Given the description of an element on the screen output the (x, y) to click on. 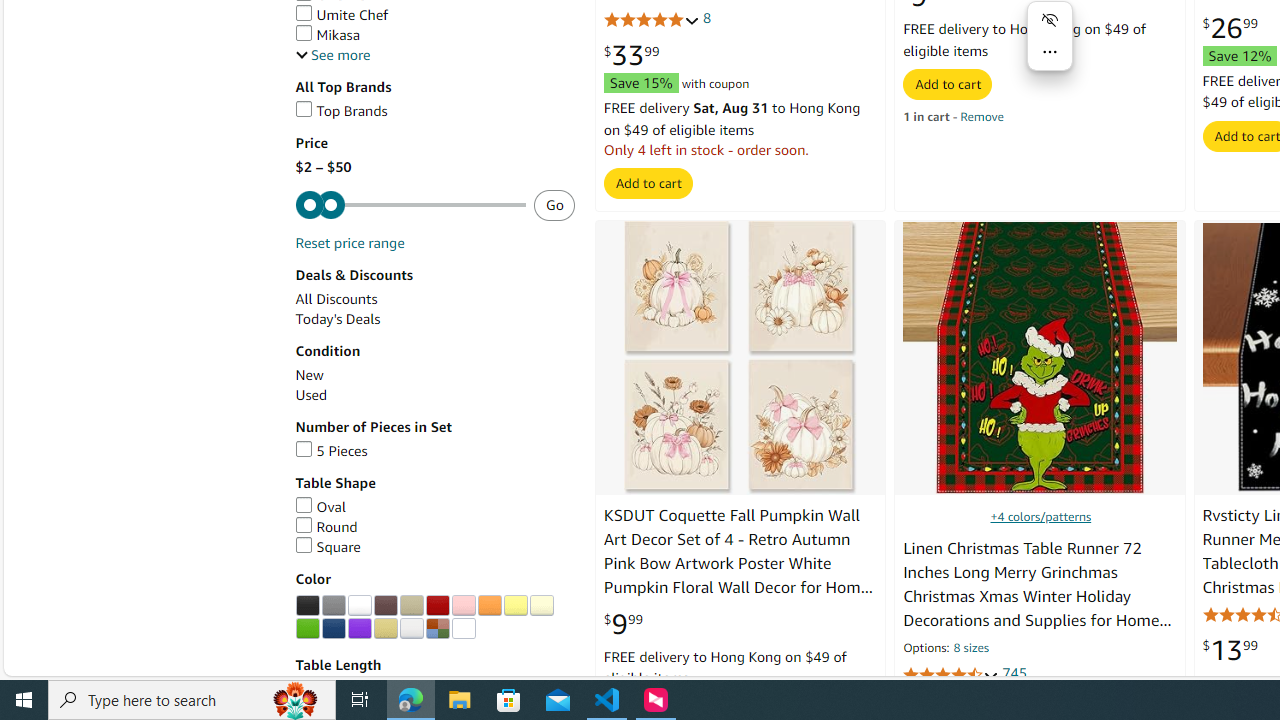
Add to cart (947, 84)
AutomationID: p_n_feature_twenty_browse-bin/3254114011 (463, 628)
Clear (463, 628)
5 Pieces (434, 451)
AutomationID: p_n_feature_twenty_browse-bin/3254106011 (515, 605)
See more, Brands (332, 55)
Top Brands (434, 111)
$13.99 (1230, 650)
Hide menu (1049, 20)
AutomationID: p_n_feature_twenty_browse-bin/3254098011 (307, 605)
Silver (411, 628)
Grey (333, 605)
AutomationID: p_n_feature_twenty_browse-bin/3254107011 (541, 605)
